Given the description of an element on the screen output the (x, y) to click on. 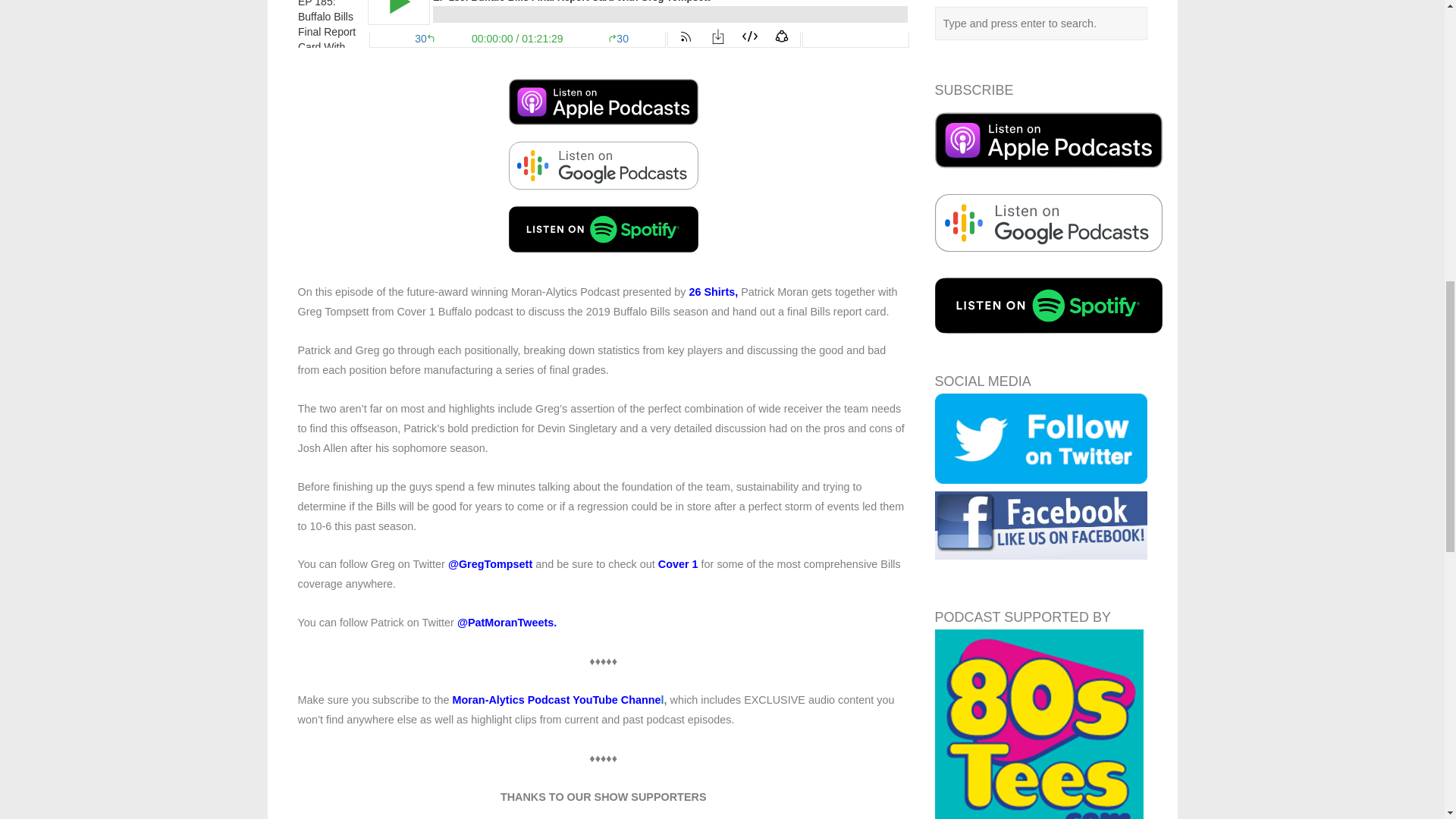
Moran-Alytics Podcast YouTube Channel (557, 699)
26 Shirts (711, 291)
Cover 1 (678, 563)
